Given the description of an element on the screen output the (x, y) to click on. 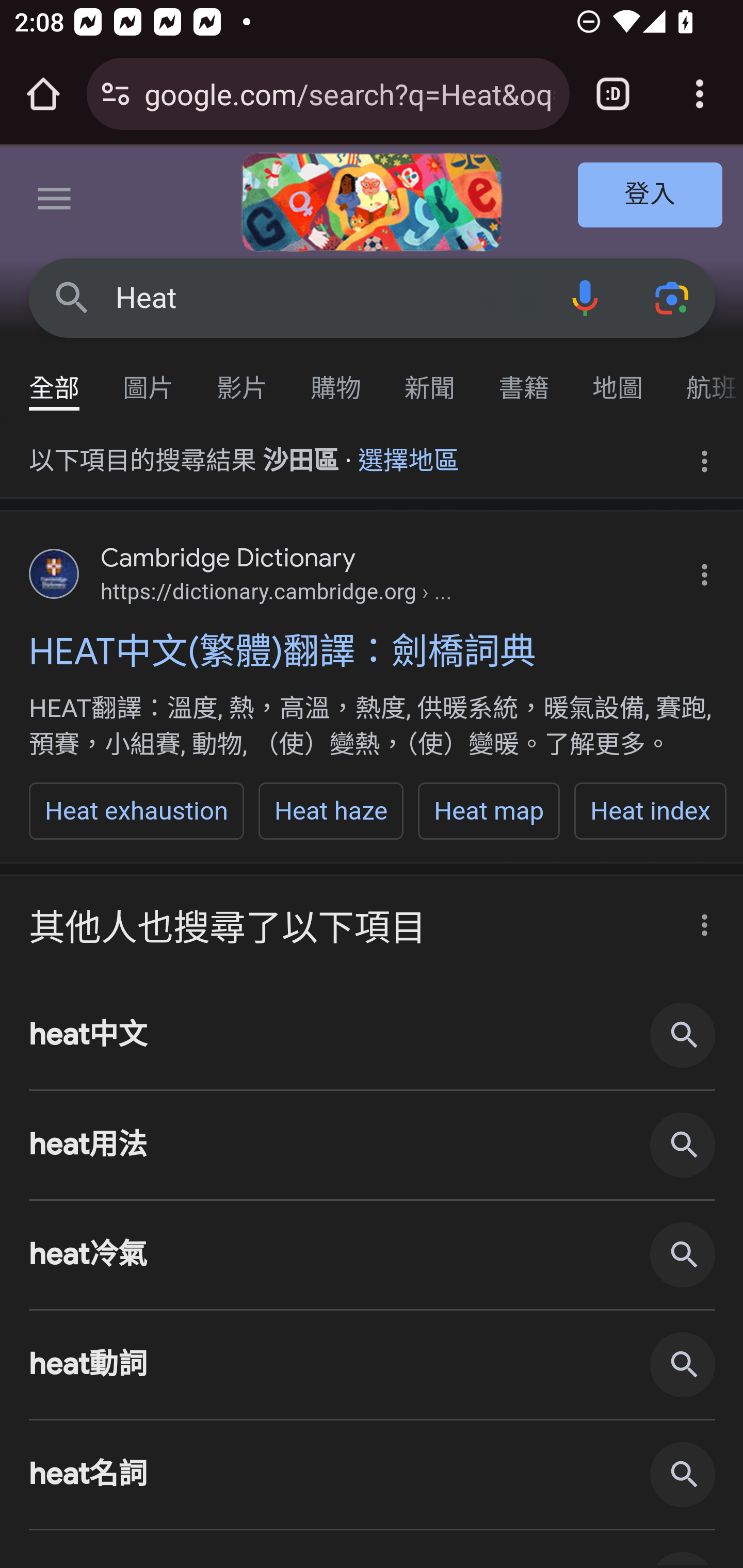
Open the home page (43, 93)
Connection is secure (115, 93)
Switch or close tabs (612, 93)
Customize and control Google Chrome (699, 93)
2024 年國際婦女節 (371, 202)
主選單 (54, 202)
登入 (650, 195)
Google 搜尋 (71, 296)
使用相機或相片搜尋 (672, 296)
Heat (328, 297)
圖片 (148, 378)
影片 (242, 378)
購物 (336, 378)
新聞 (430, 378)
書籍 (524, 378)
地圖 (618, 378)
航班 (703, 378)
選擇地區 (408, 453)
HEAT中文(繁體)翻譯：劍橋詞典 (372, 651)
Heat exhaustion (136, 811)
Heat haze (330, 811)
Heat map (488, 811)
Heat index (650, 811)
關於此結果 (698, 919)
heat中文 (372, 1034)
heat用法 (372, 1144)
heat冷氣 (372, 1254)
heat動詞 (372, 1365)
heat名詞 (372, 1474)
